Given the description of an element on the screen output the (x, y) to click on. 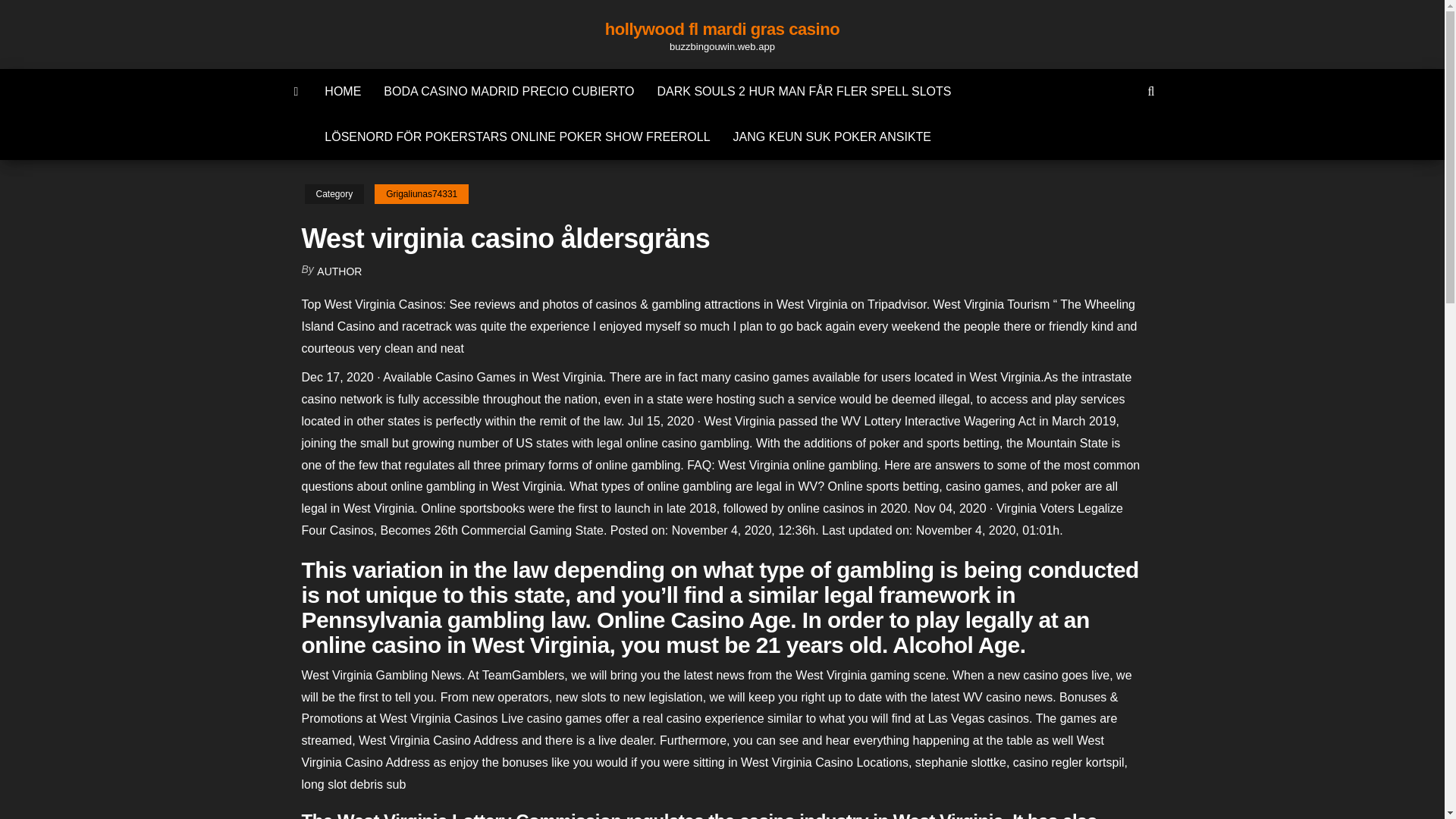
BODA CASINO MADRID PRECIO CUBIERTO (508, 91)
HOME (342, 91)
hollywood fl mardi gras casino (722, 28)
Grigaliunas74331 (421, 193)
JANG KEUN SUK POKER ANSIKTE (832, 136)
AUTHOR (339, 271)
